Given the description of an element on the screen output the (x, y) to click on. 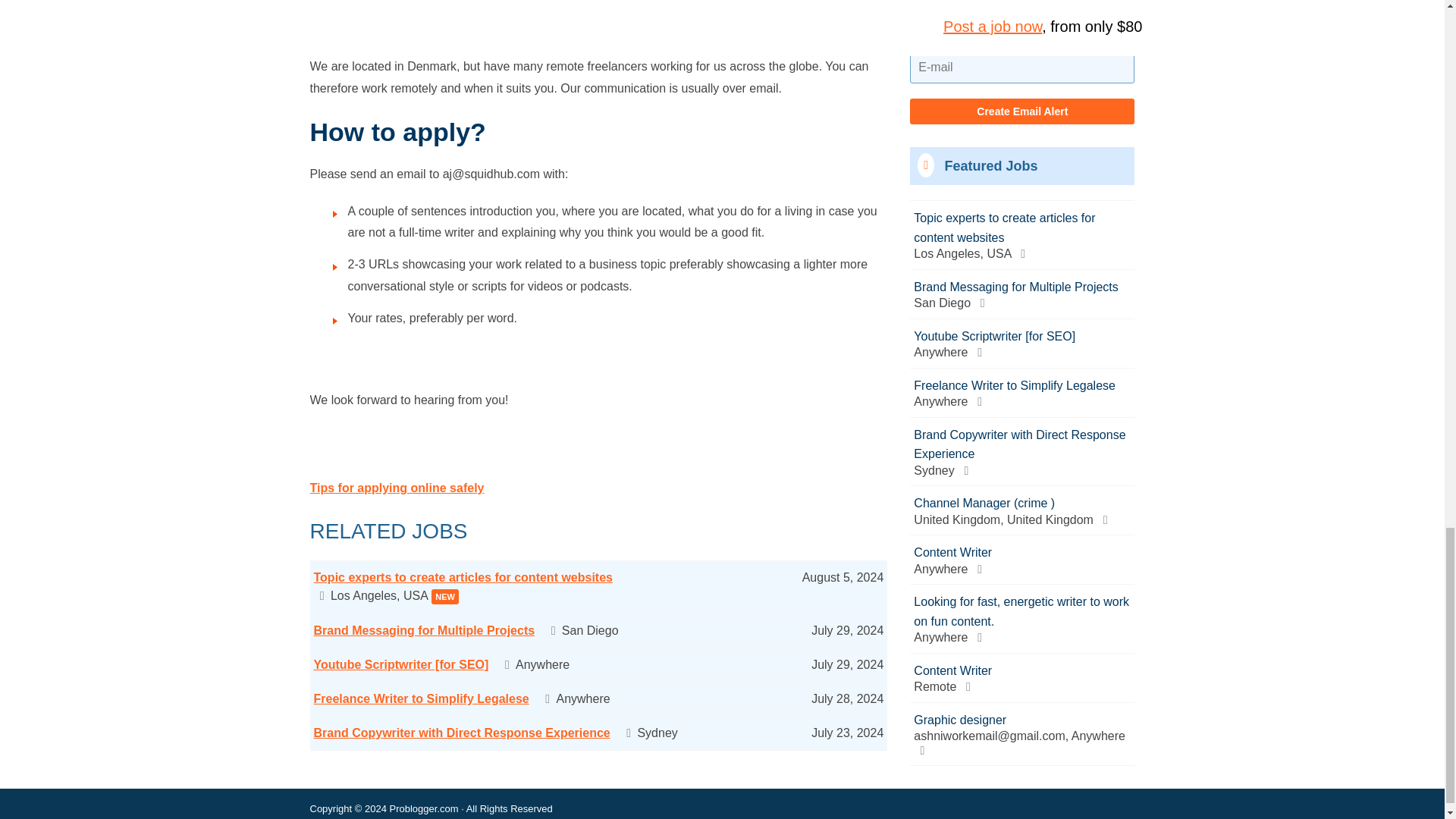
Tips for applying online safely (395, 487)
Topic experts to create articles for content websites (463, 576)
Brand Messaging for Multiple Projects (424, 630)
